Given the description of an element on the screen output the (x, y) to click on. 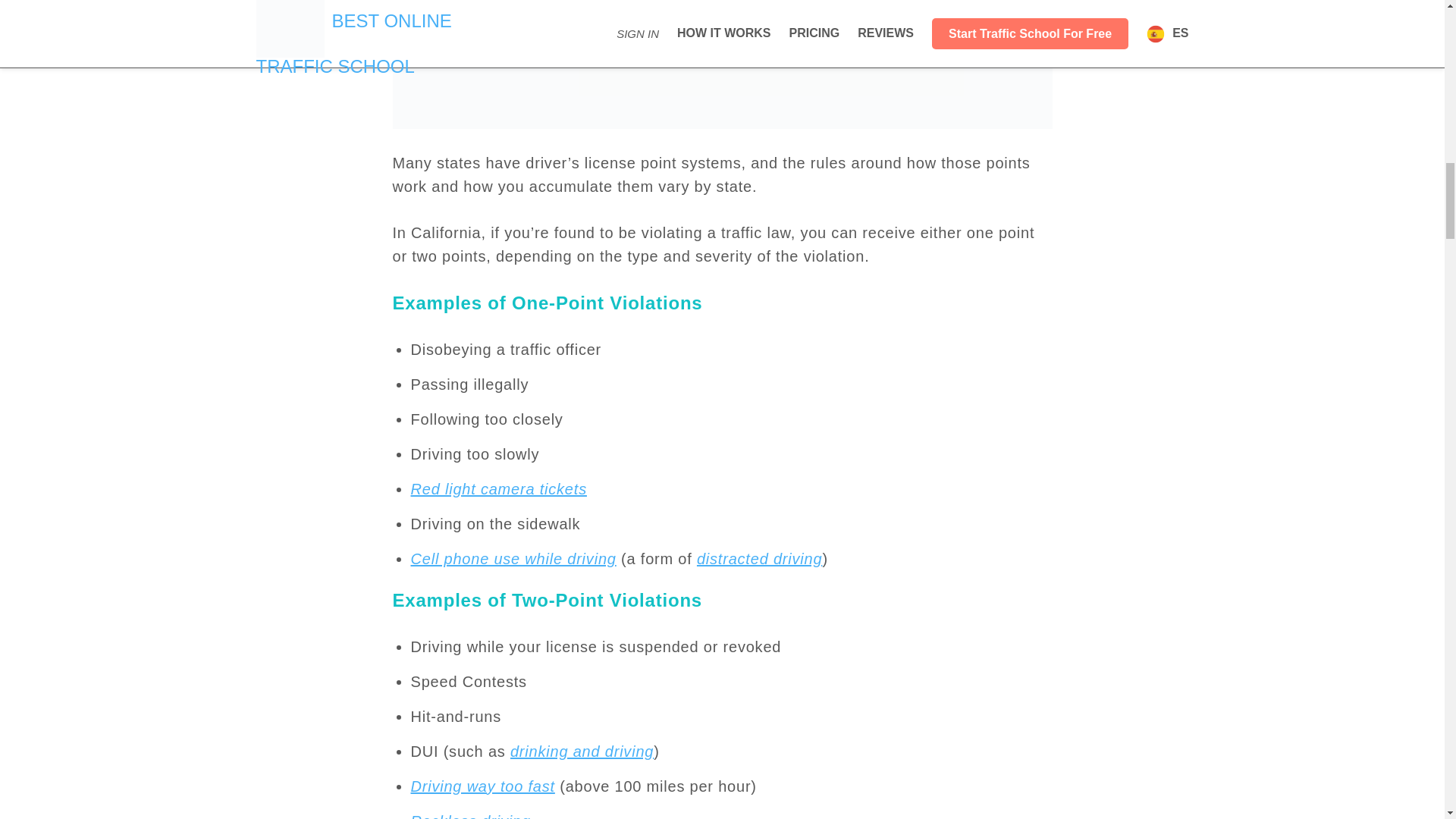
Red light camera tickets (498, 488)
distracted driving (759, 558)
drinking and driving (582, 751)
Cell phone use while driving (512, 558)
Reckless driving (470, 816)
Driving way too fast (482, 786)
